Given the description of an element on the screen output the (x, y) to click on. 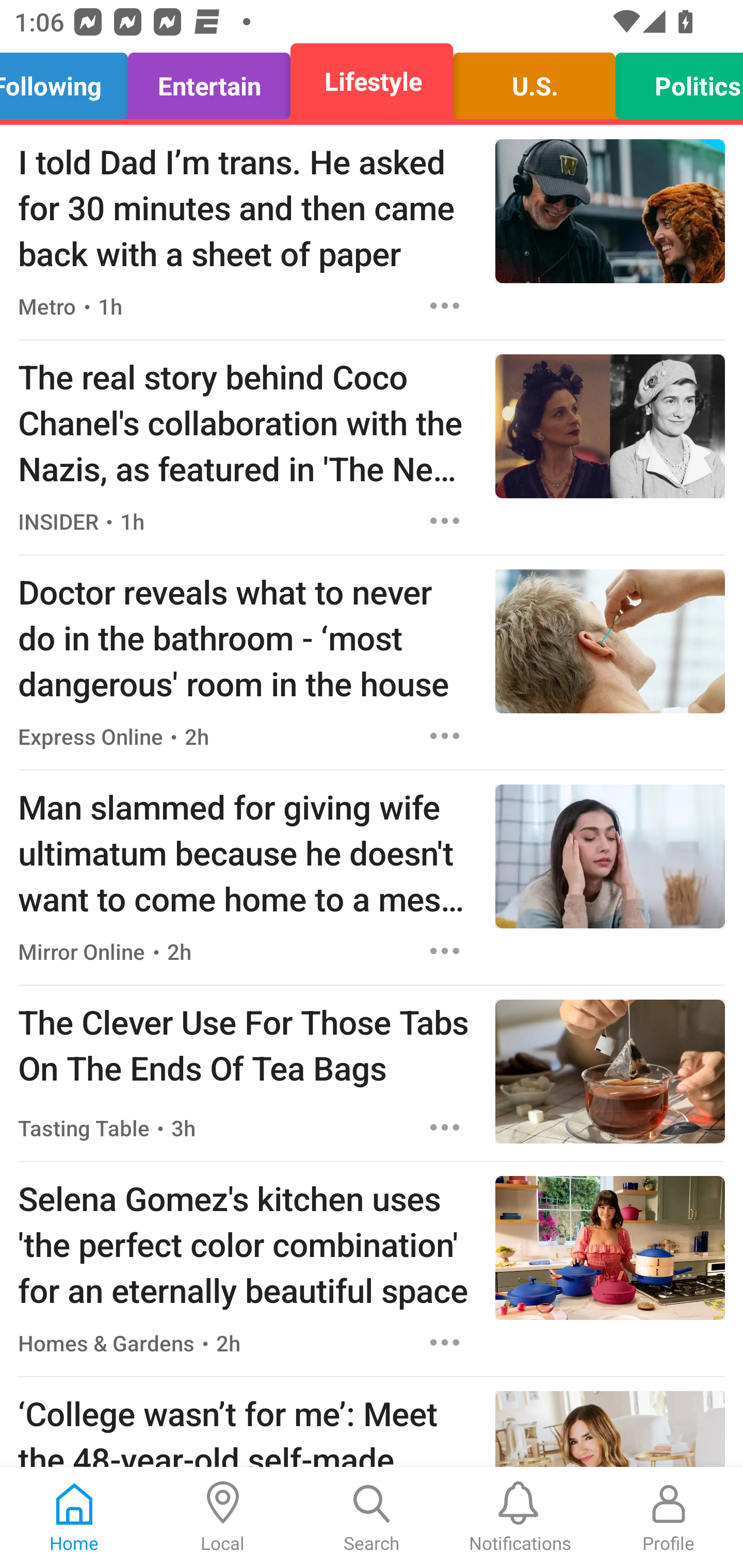
Entertain (209, 81)
Lifestyle (371, 81)
U.S. (534, 81)
Options (444, 305)
Options (444, 520)
Options (444, 736)
Options (444, 950)
Options (444, 1127)
Options (444, 1342)
Local (222, 1517)
Search (371, 1517)
Notifications (519, 1517)
Profile (668, 1517)
